Given the description of an element on the screen output the (x, y) to click on. 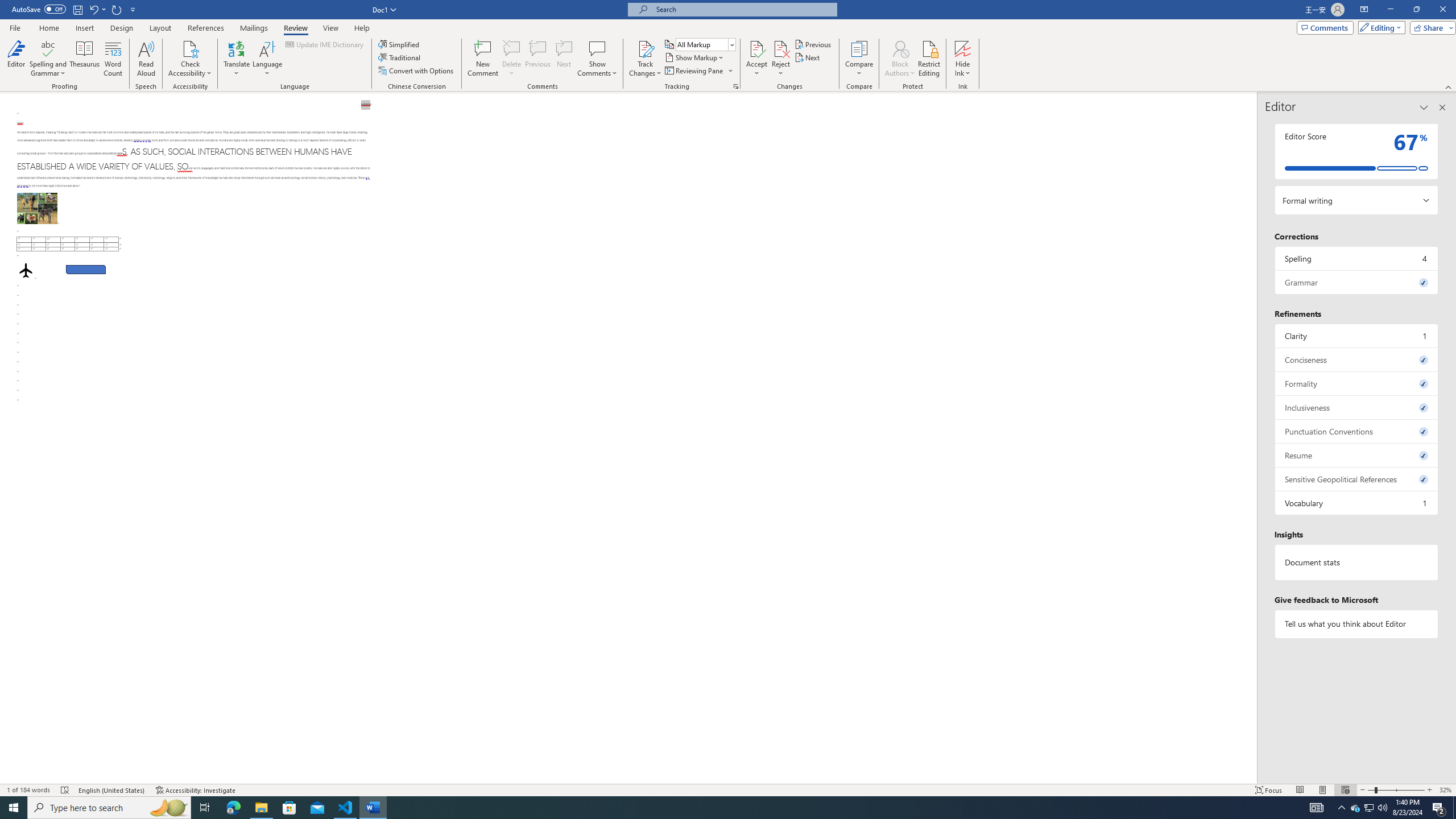
Restore Down (1416, 9)
Microsoft search (742, 9)
Close pane (1441, 107)
Ribbon Display Options (1364, 9)
Show Markup (695, 56)
Reviewing Pane (698, 69)
Compare (859, 58)
Airplane with solid fill (25, 270)
Spelling and Grammar Check Errors (65, 790)
Traditional (400, 56)
Tell us what you think about Editor (1356, 624)
References (205, 28)
